Given the description of an element on the screen output the (x, y) to click on. 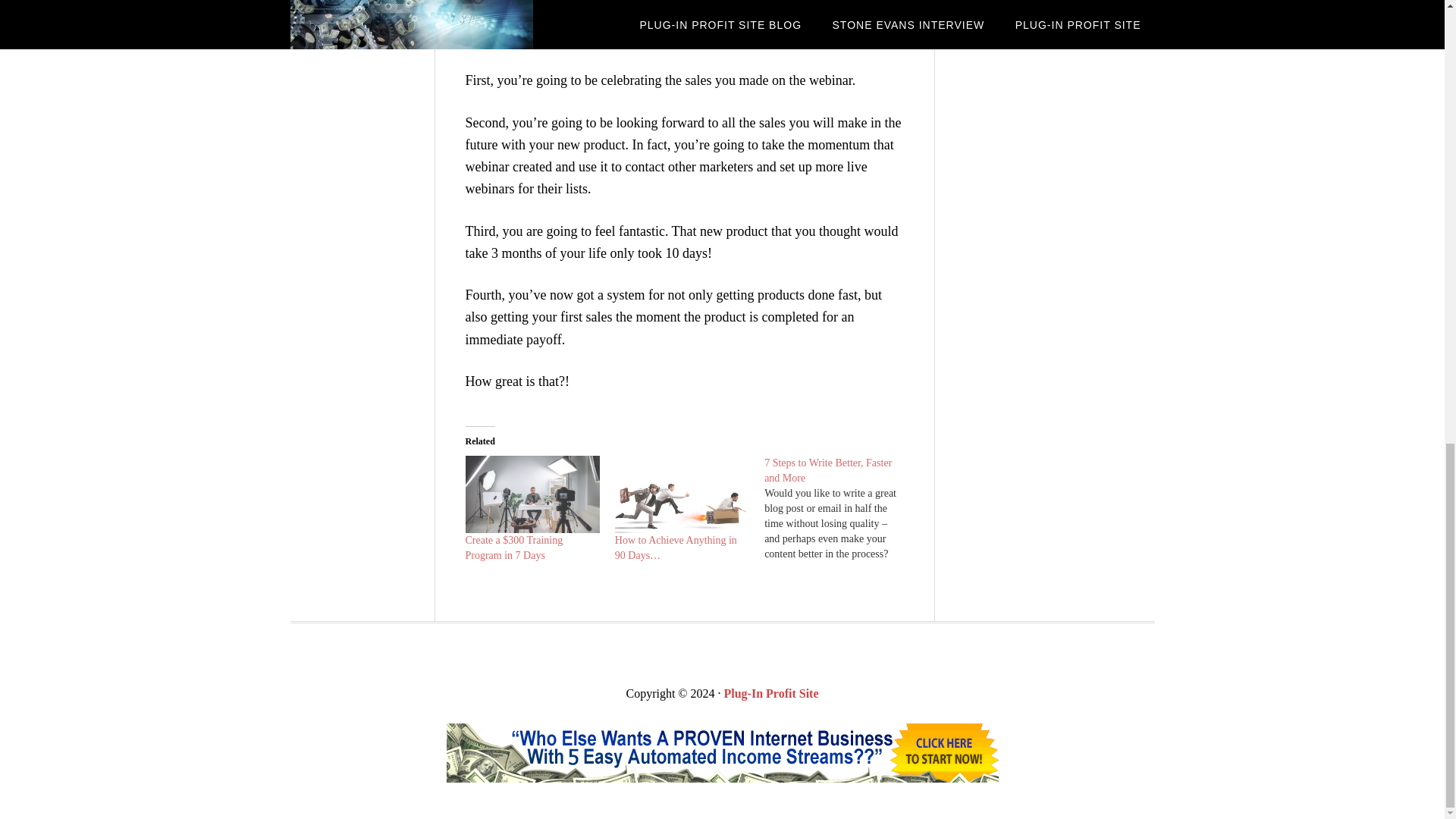
7 Steps to Write Better, Faster and More (839, 508)
7 Steps to Write Better, Faster and More (827, 470)
7 Steps to Write Better, Faster and More (827, 470)
Plug-In Profit Site (770, 693)
